Given the description of an element on the screen output the (x, y) to click on. 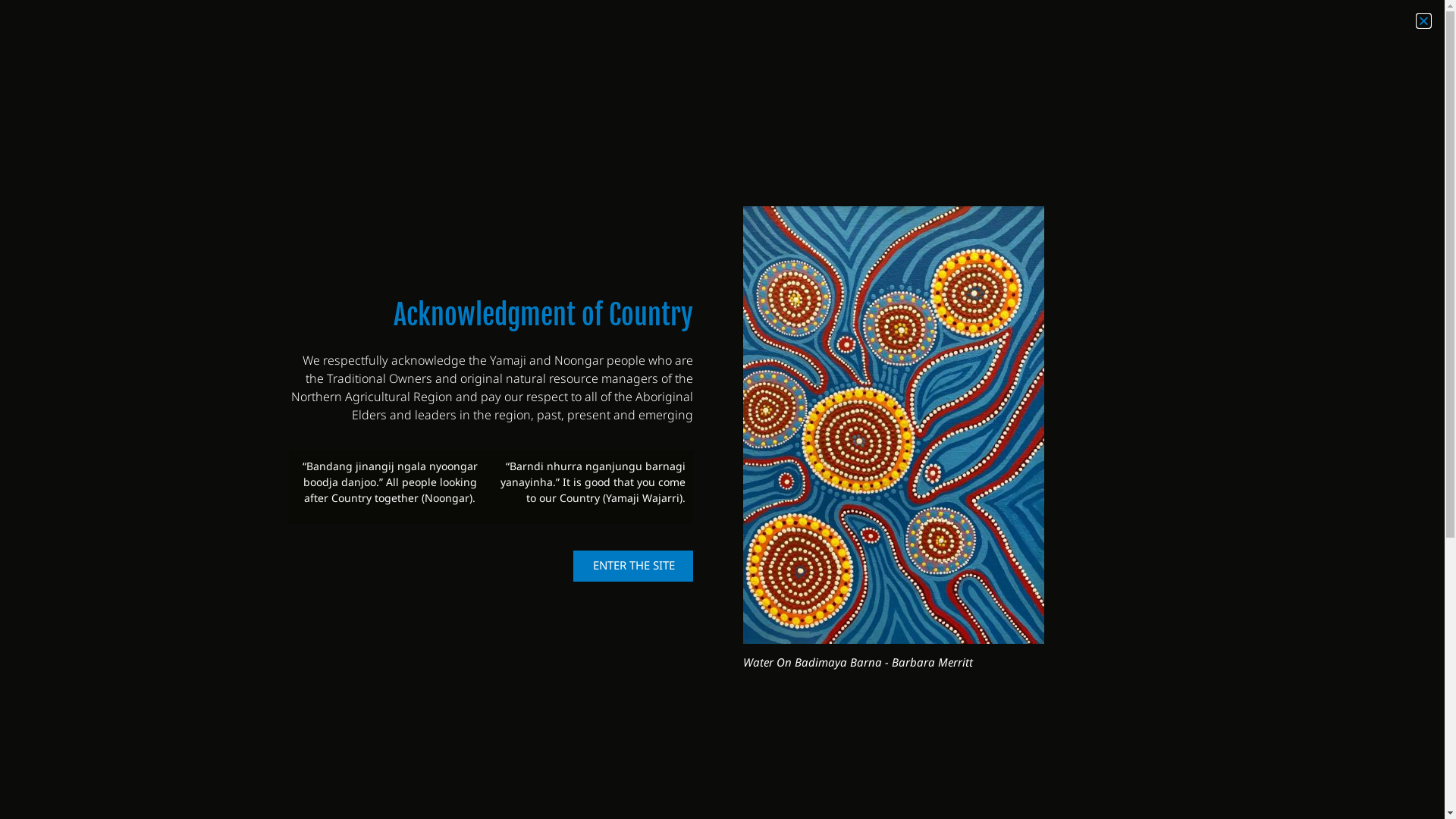
NRM STRATEGY Element type: text (736, 77)
RESOURCES Element type: text (1178, 77)
THE REGION Element type: text (851, 77)
HOME Element type: text (644, 77)
ENTER THE SITE Element type: text (633, 565)
REPORT CARD Element type: text (1068, 77)
NRM GOALS Element type: text (958, 77)
GET INVOLVED Element type: text (1289, 77)
